Given the description of an element on the screen output the (x, y) to click on. 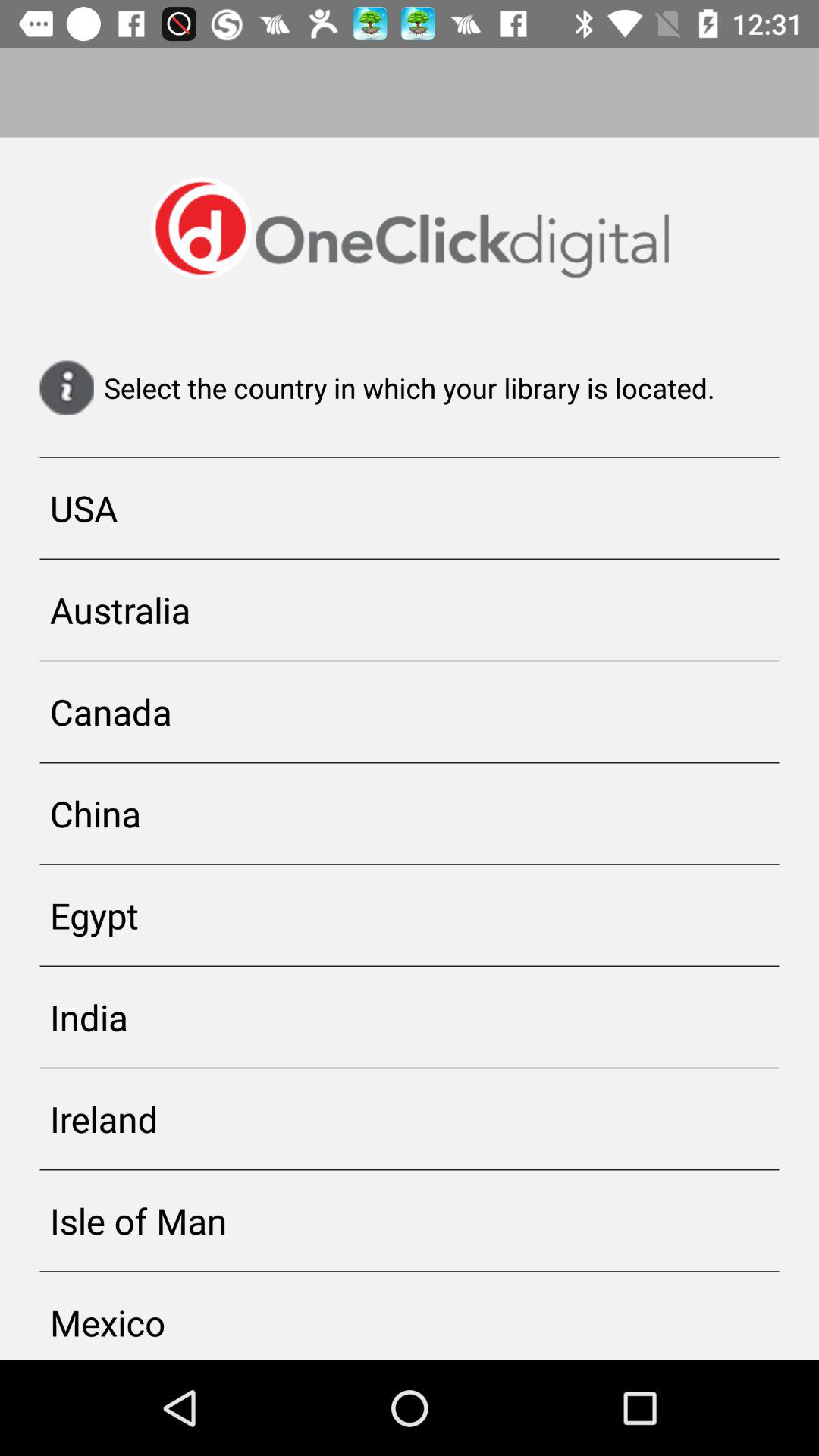
turn on the india icon (409, 1016)
